Given the description of an element on the screen output the (x, y) to click on. 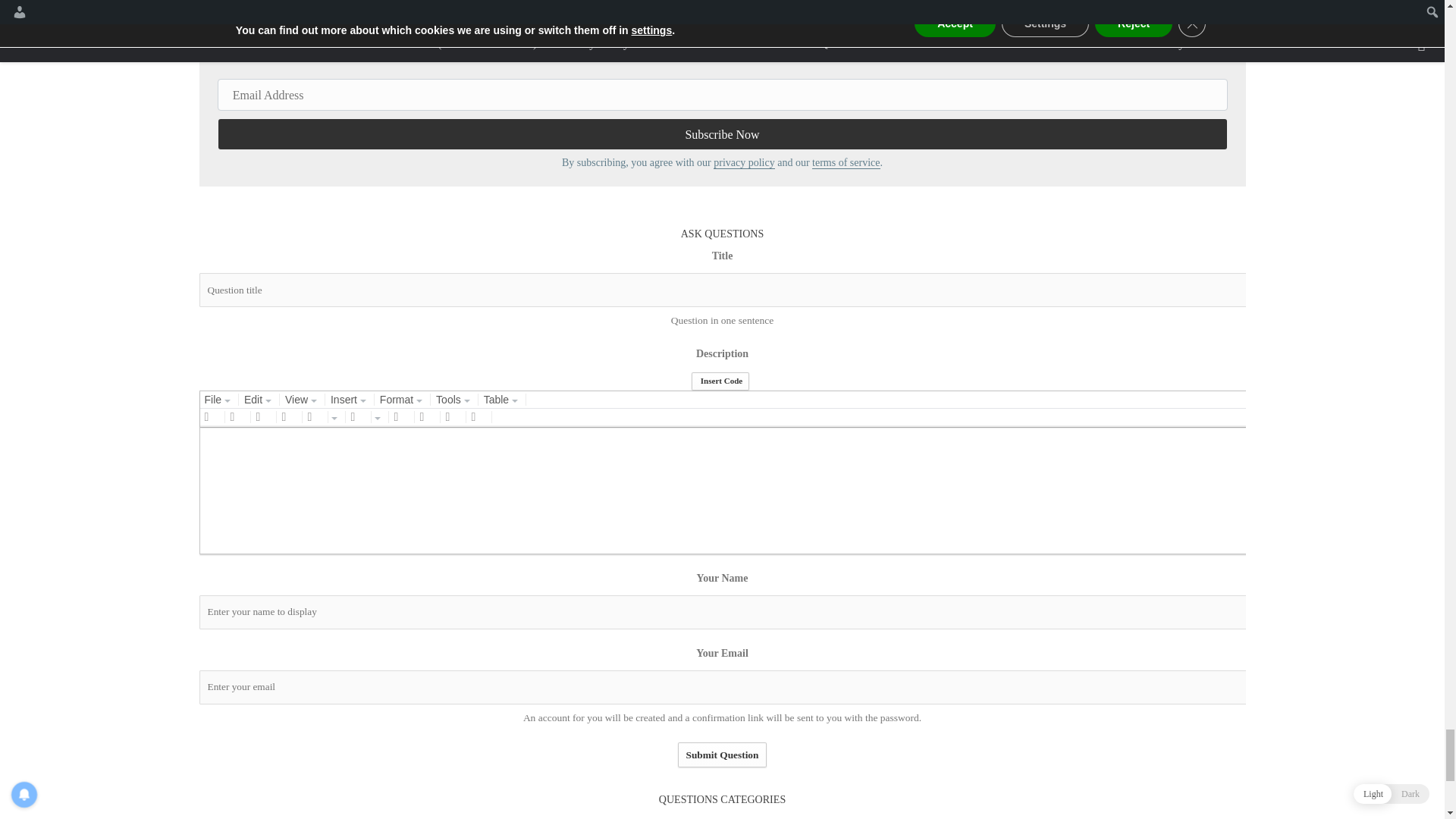
Subscribe Now (721, 133)
